Given the description of an element on the screen output the (x, y) to click on. 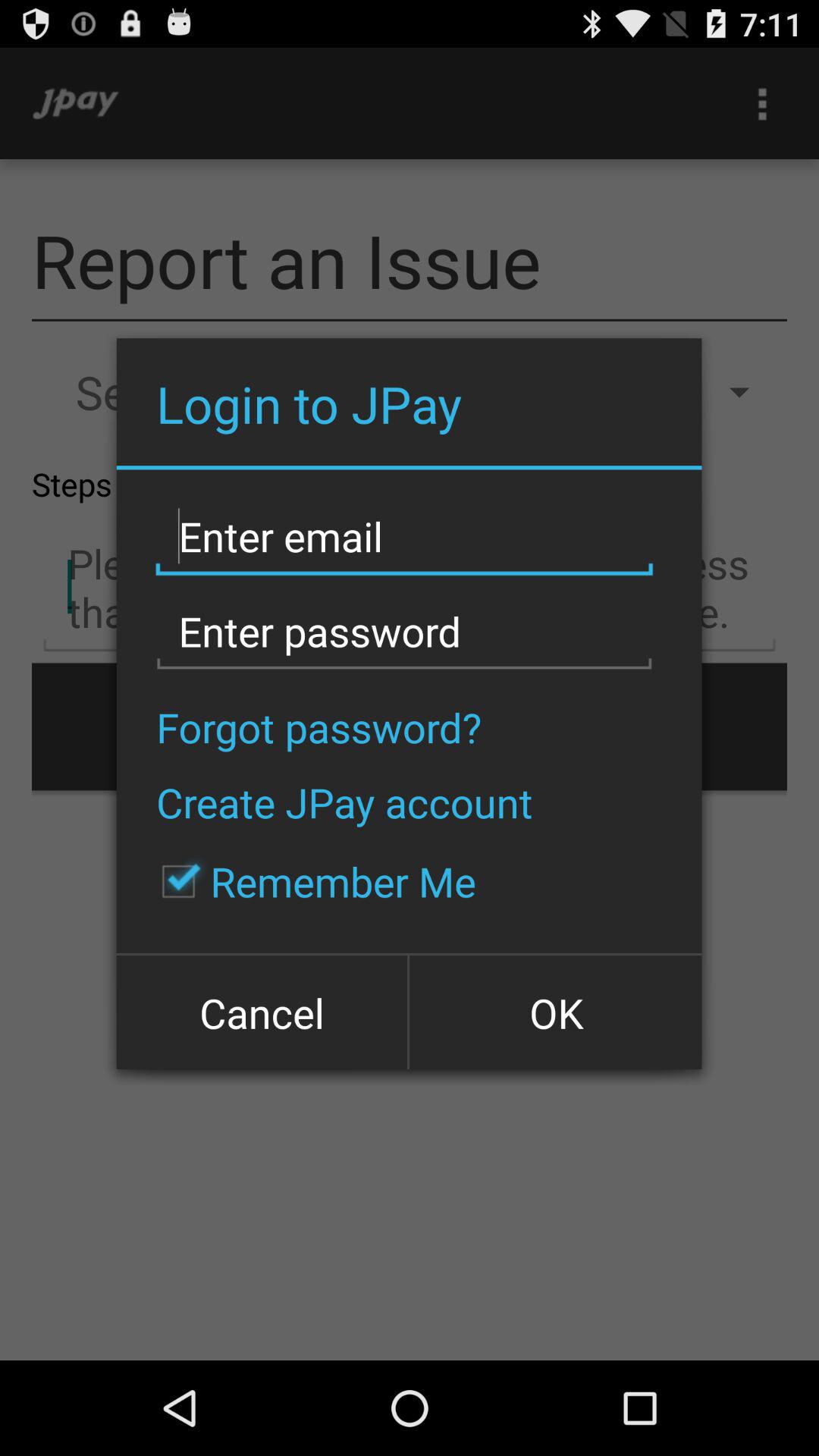
click ok item (554, 1011)
